Given the description of an element on the screen output the (x, y) to click on. 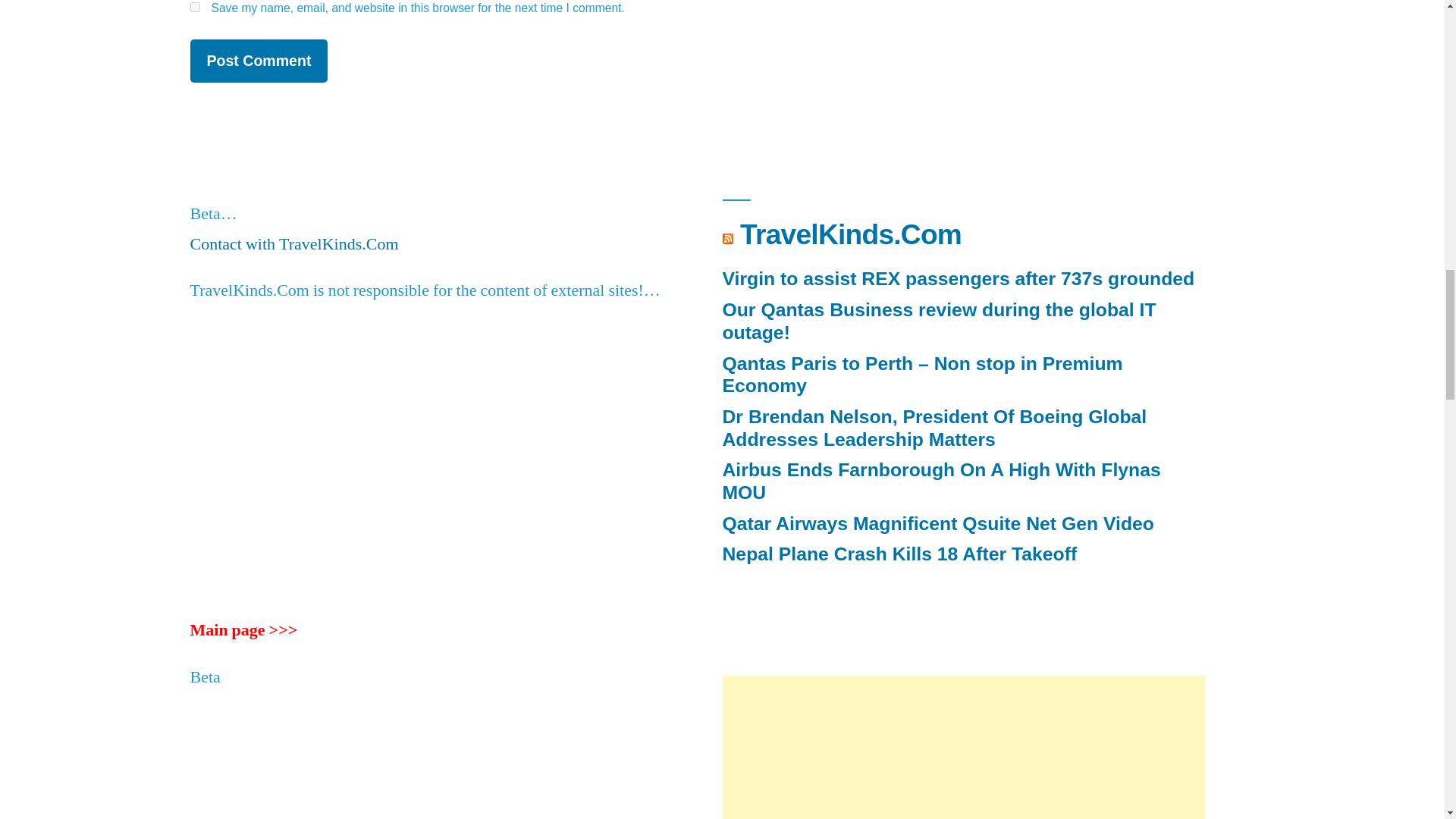
Qatar Airways Magnificent Qsuite Net Gen Video (937, 523)
Nepal Plane Crash Kills 18 After Takeoff (899, 553)
Virgin to assist REX passengers after 737s grounded (957, 278)
TravelKinds.Com (849, 234)
Post Comment (258, 60)
Post Comment (258, 60)
Contact with TravelKinds.Com (293, 243)
Airbus Ends Farnborough On A High With Flynas MOU (941, 480)
Our Qantas Business review during the global IT outage! (939, 321)
